Given the description of an element on the screen output the (x, y) to click on. 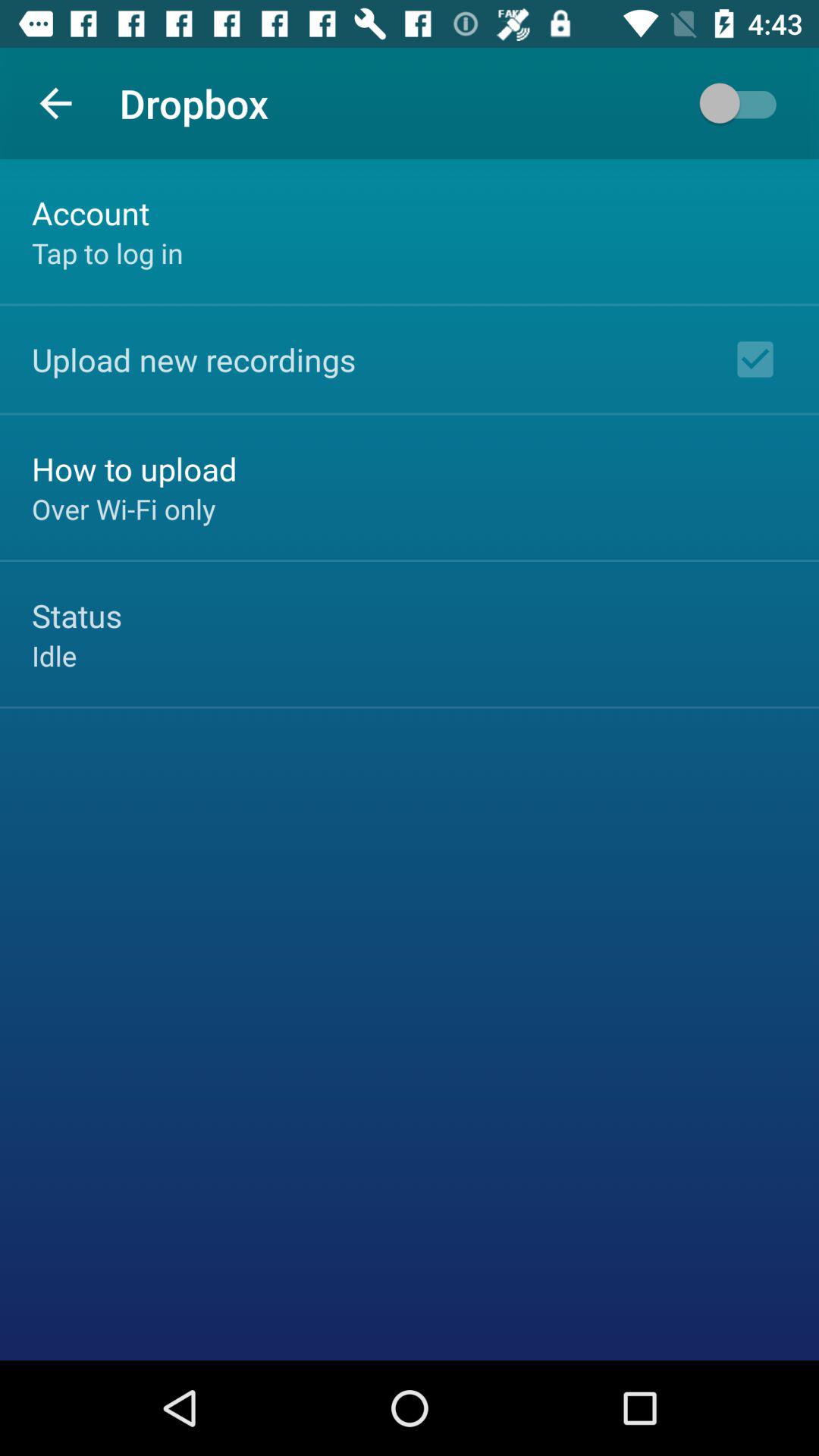
turn on account item (90, 212)
